Given the description of an element on the screen output the (x, y) to click on. 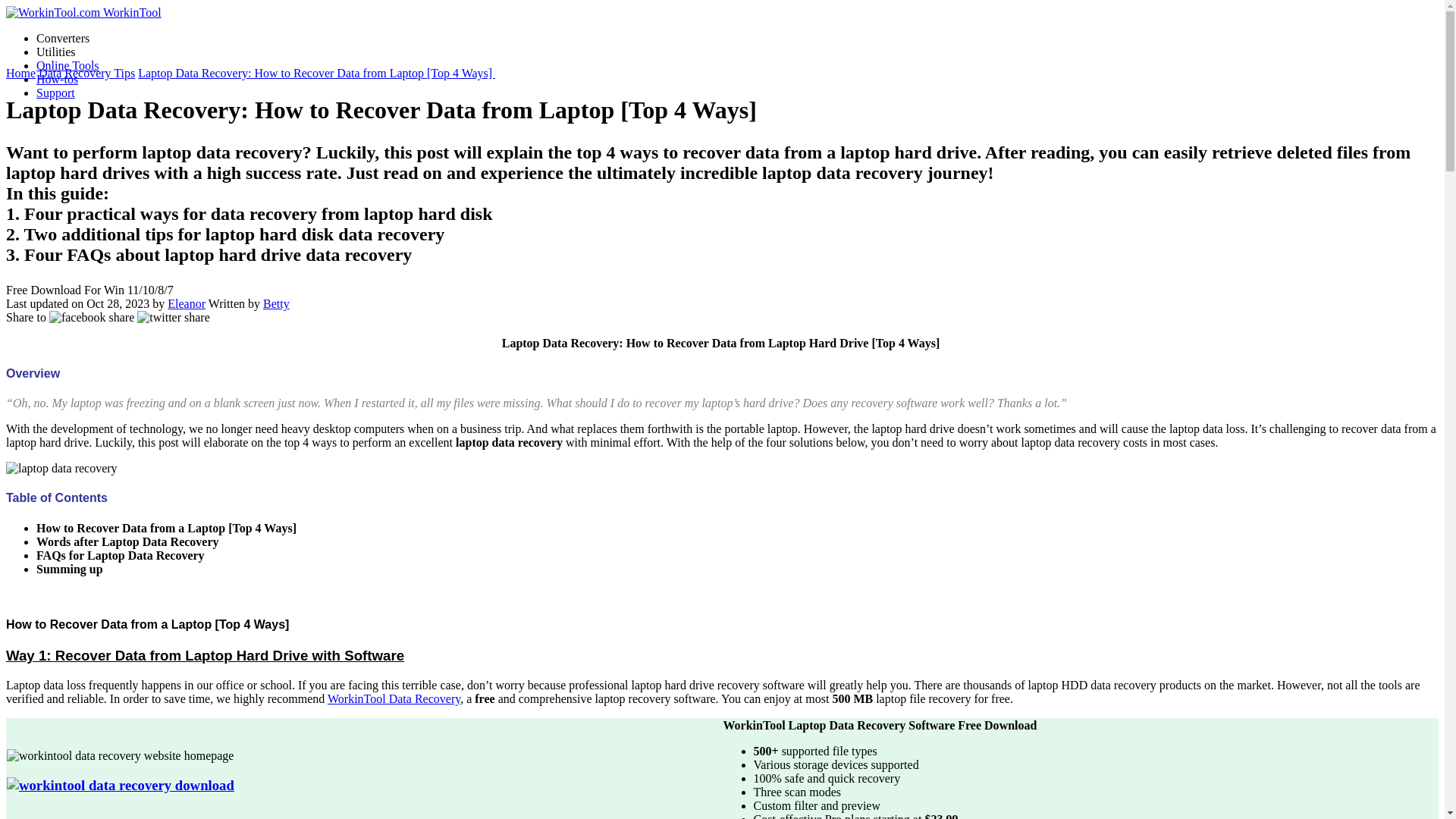
Online Tools (67, 65)
WorkinTool (83, 11)
